Given the description of an element on the screen output the (x, y) to click on. 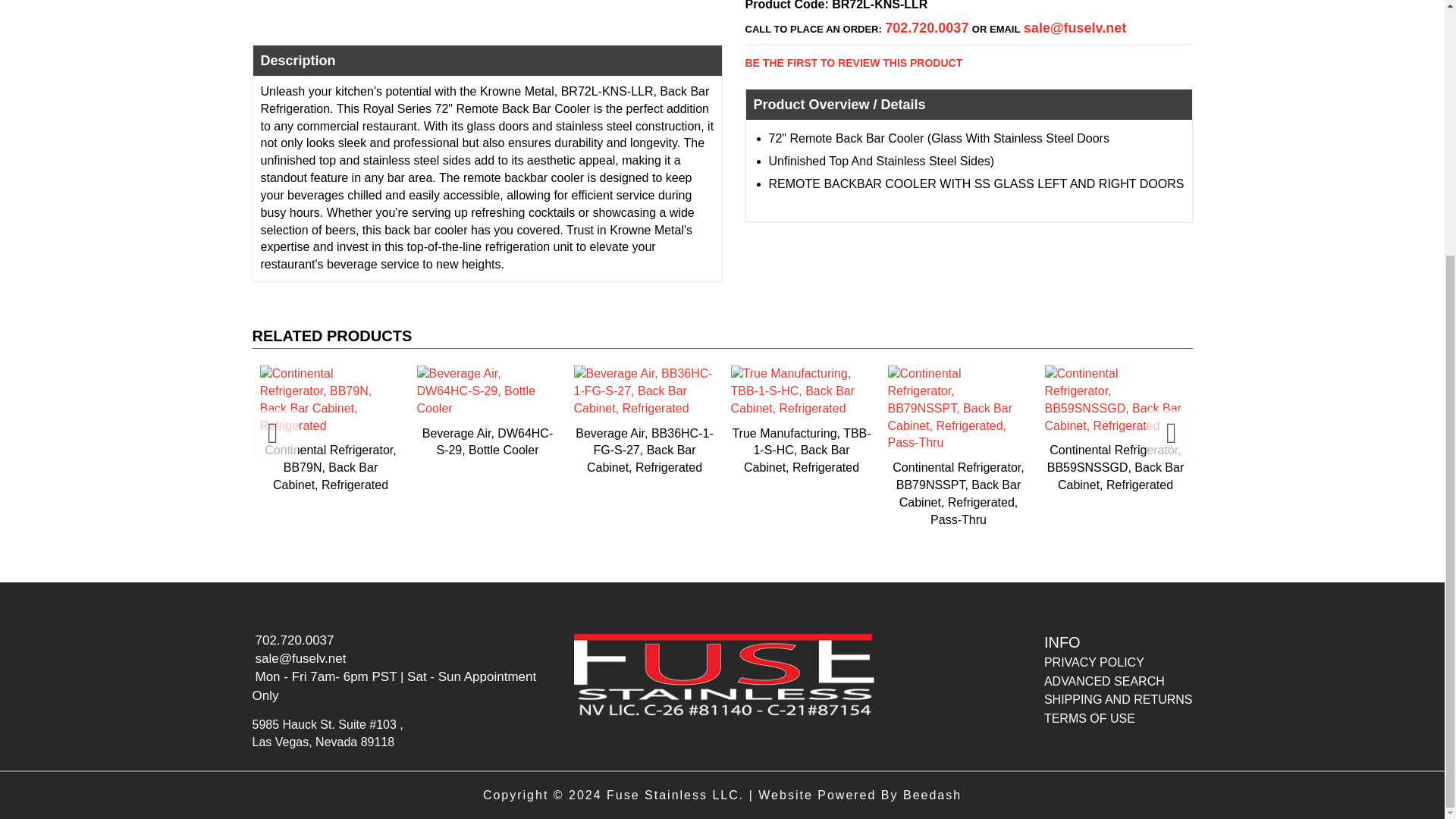
Beverage Air, DW64HC-S-29, Bottle Cooler (487, 411)
